Given the description of an element on the screen output the (x, y) to click on. 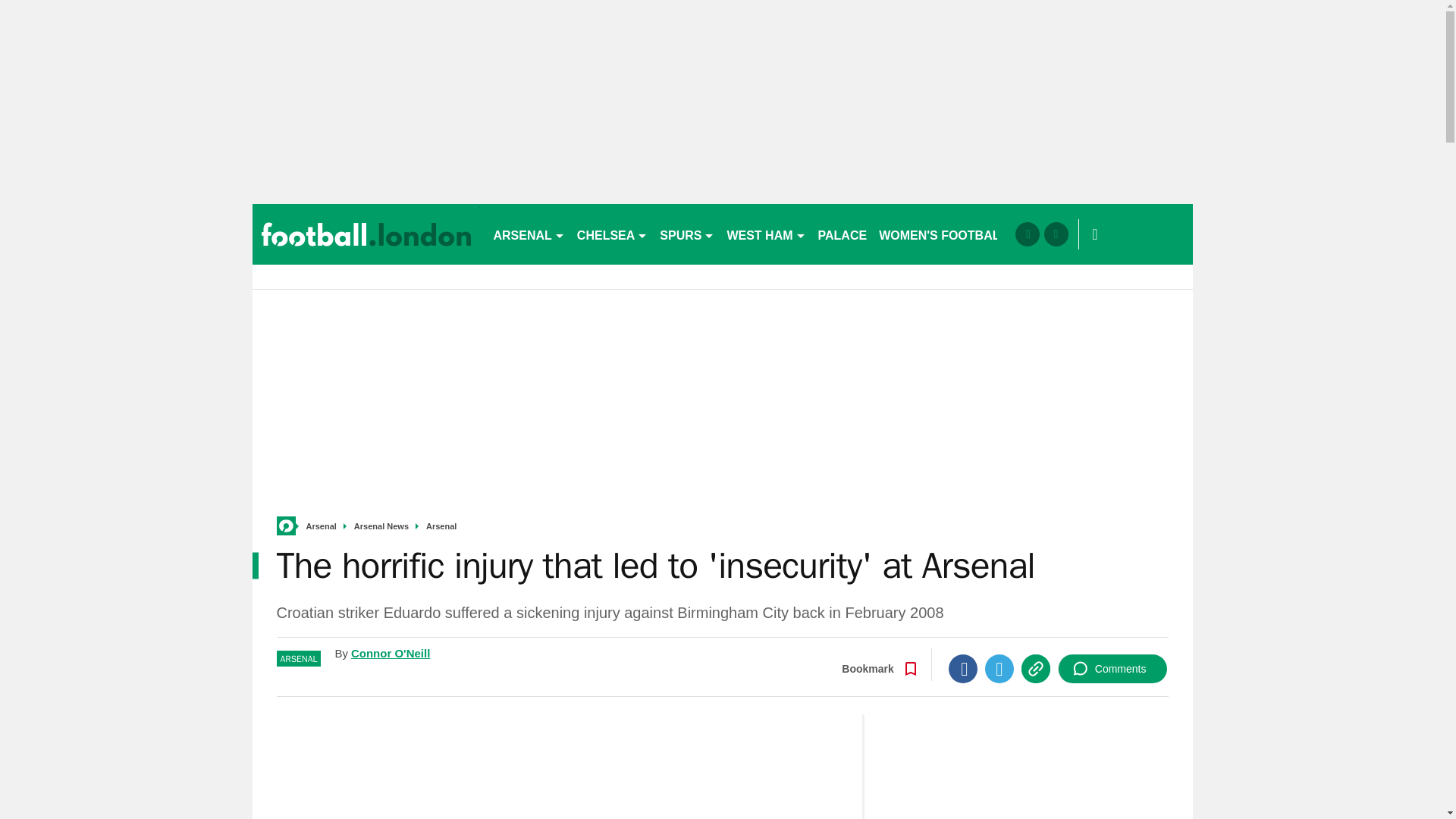
PALACE (842, 233)
WEST HAM (765, 233)
Facebook (962, 668)
CHELSEA (611, 233)
Twitter (999, 668)
SPURS (686, 233)
Comments (1112, 668)
WOMEN'S FOOTBALL (942, 233)
facebook (1026, 233)
twitter (1055, 233)
